Given the description of an element on the screen output the (x, y) to click on. 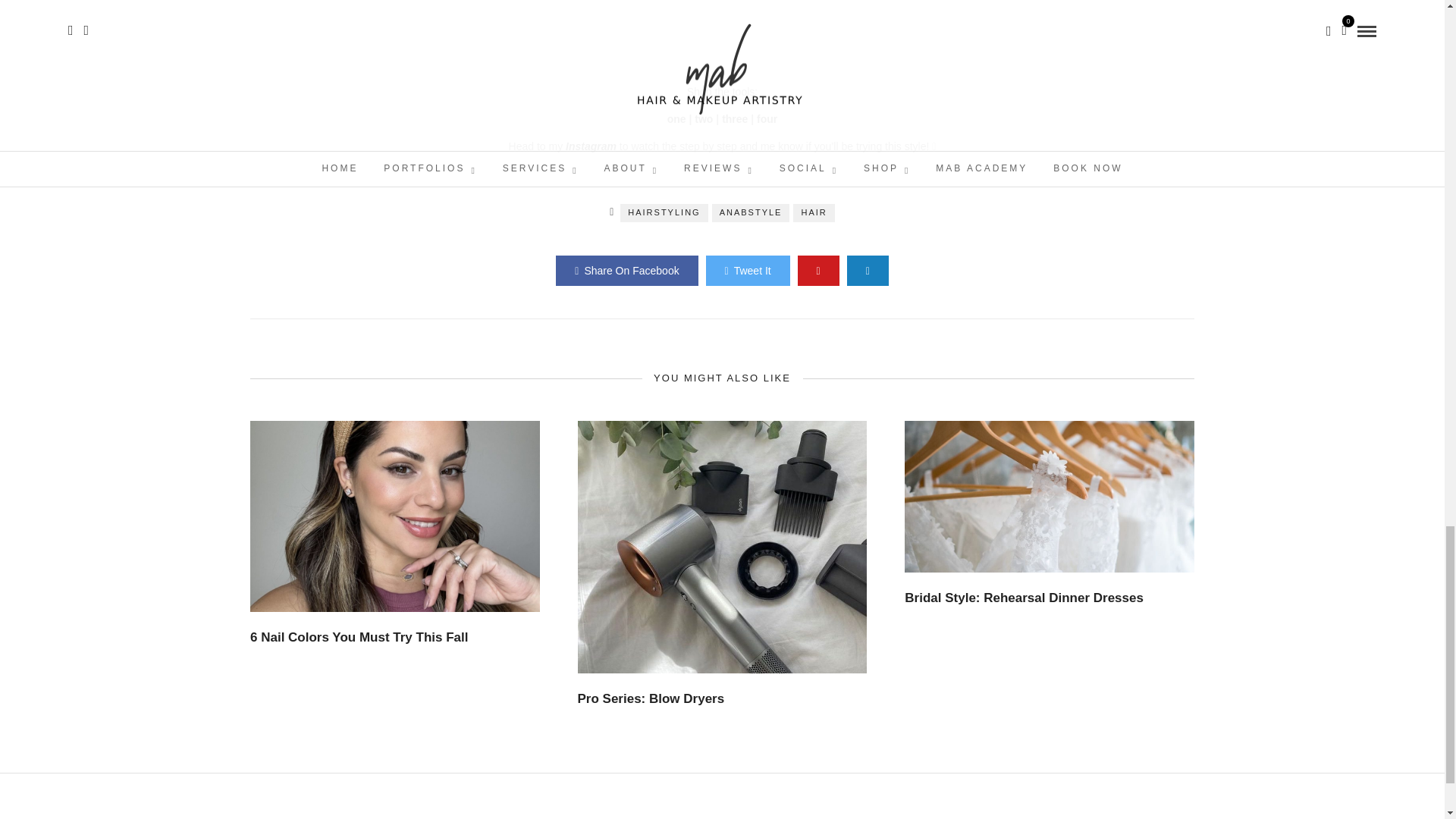
Bridal Style: Rehearsal Dinner Dresses (1023, 597)
6 Nail Colors You Must Try This Fall (358, 636)
Pro Series: Blow Dryers (651, 698)
